Given the description of an element on the screen output the (x, y) to click on. 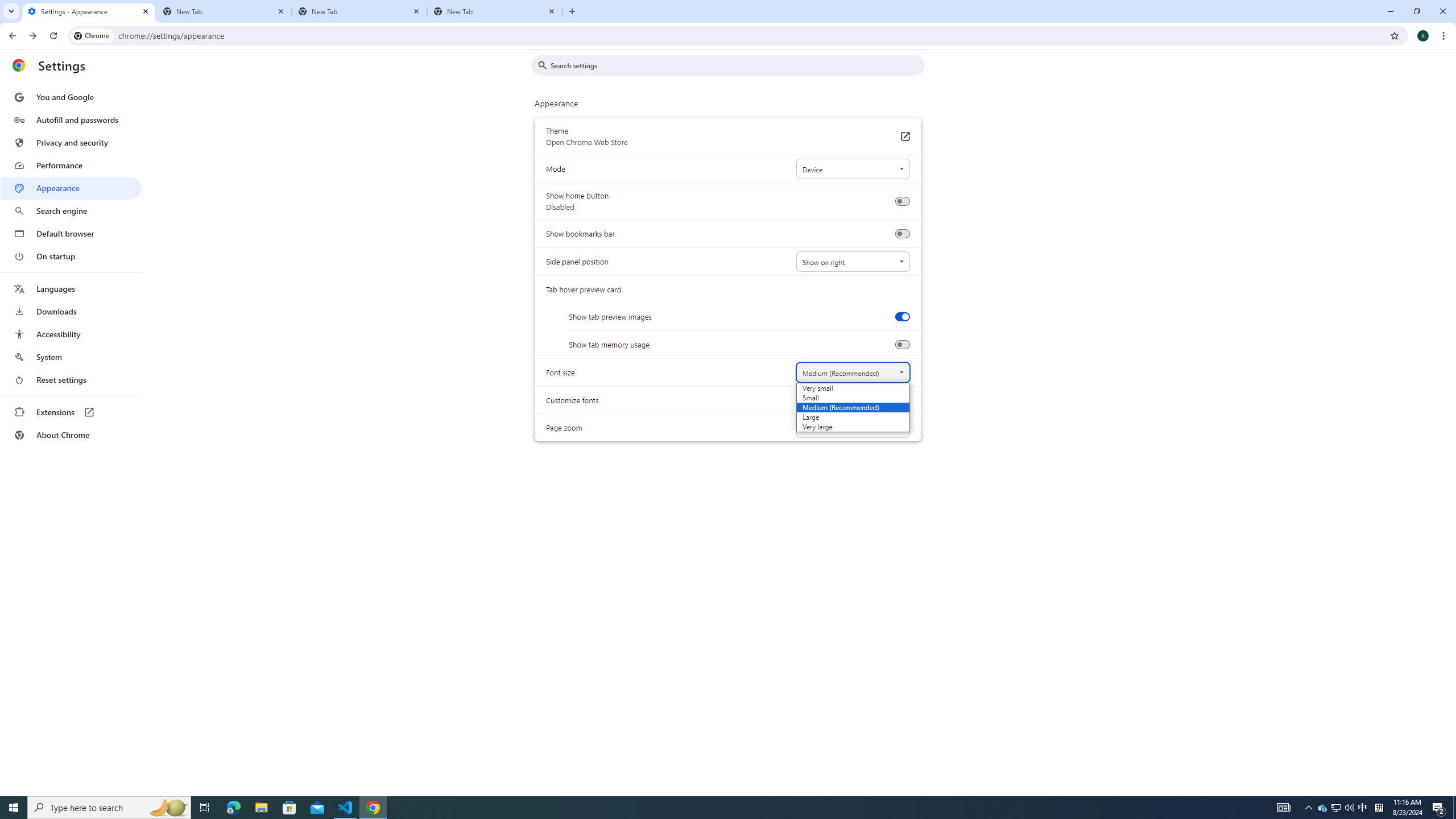
On startup (70, 255)
Settings - Appearance (88, 11)
